Given the description of an element on the screen output the (x, y) to click on. 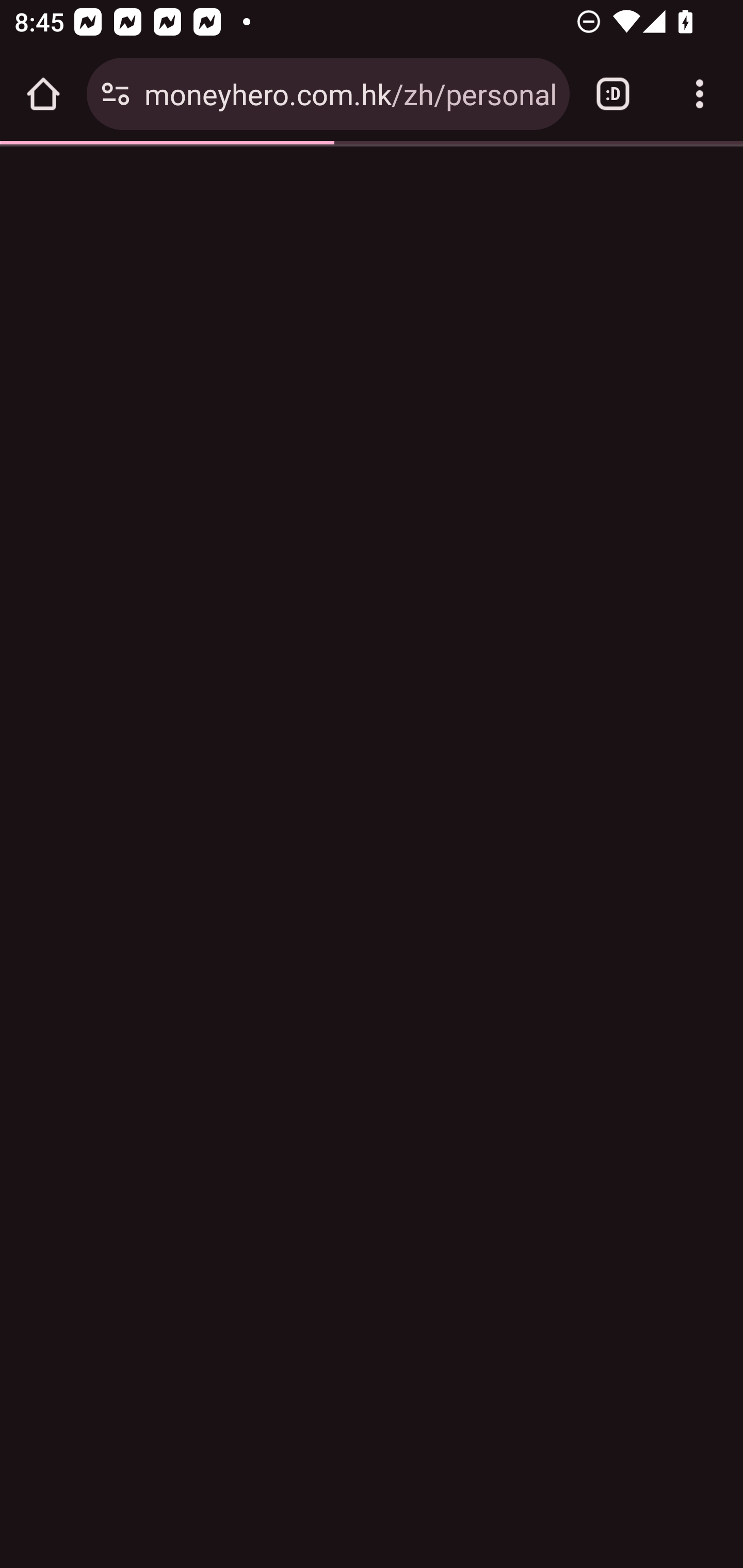
Open the home page (43, 93)
Connection is secure (115, 93)
Switch or close tabs (612, 93)
Customize and control Google Chrome (699, 93)
